Given the description of an element on the screen output the (x, y) to click on. 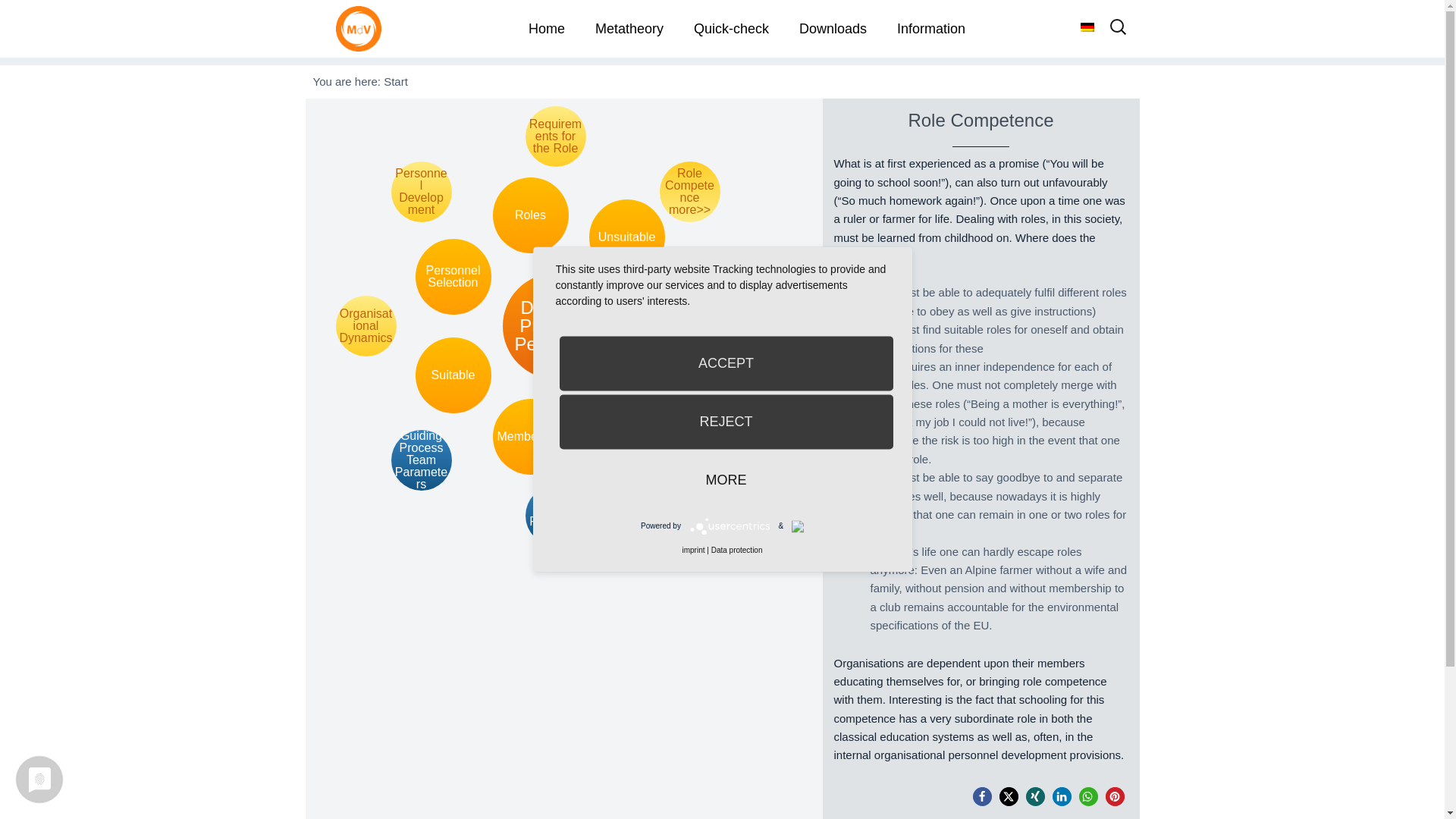
Career Break (689, 459)
Home (546, 28)
Guiding Process Personnel (554, 515)
Career (668, 325)
Decision Premise: Personnel (555, 325)
Dismissal Procedure (625, 414)
Search (42, 18)
ACCEPT (726, 362)
Downloads (833, 28)
